Given the description of an element on the screen output the (x, y) to click on. 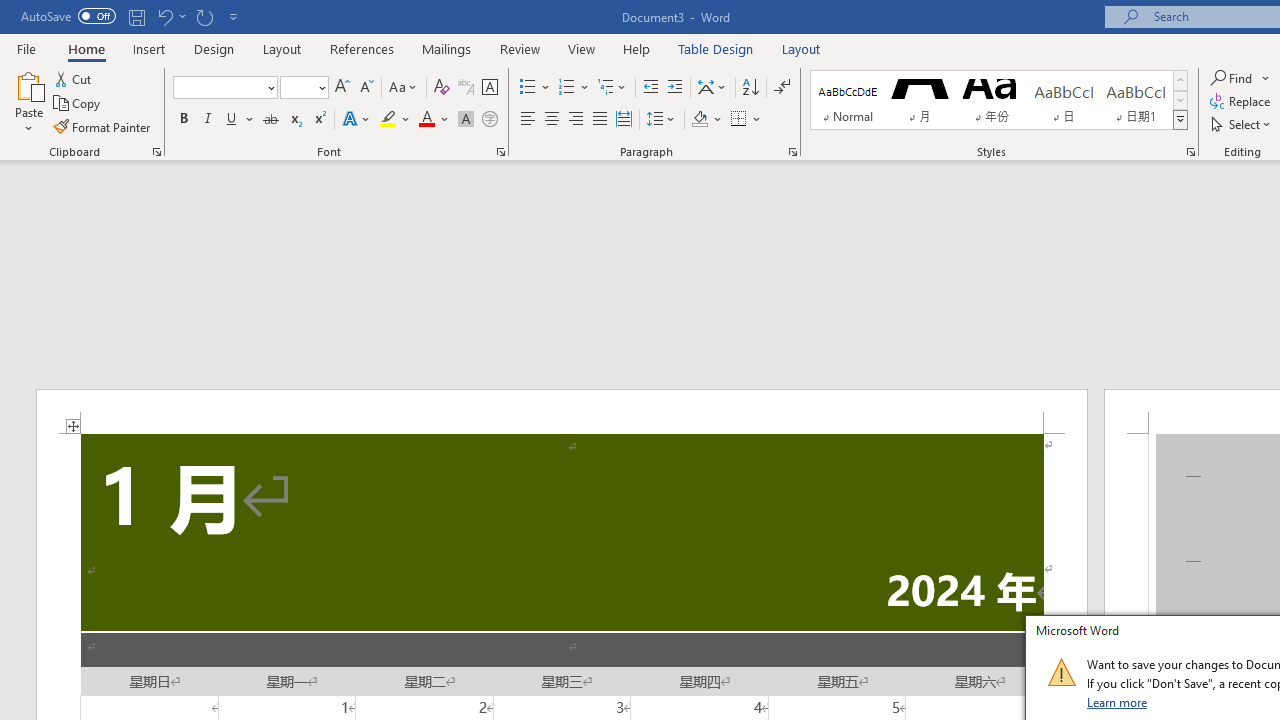
Borders (739, 119)
Replace... (1242, 101)
Row up (1179, 79)
Distributed (623, 119)
Learn more (1118, 702)
Strikethrough (270, 119)
Repeat Doc Close (204, 15)
Paragraph... (792, 151)
Grow Font (342, 87)
Subscript (294, 119)
Multilevel List (613, 87)
Borders (746, 119)
Character Shading (465, 119)
Bullets (535, 87)
Bullets (527, 87)
